Given the description of an element on the screen output the (x, y) to click on. 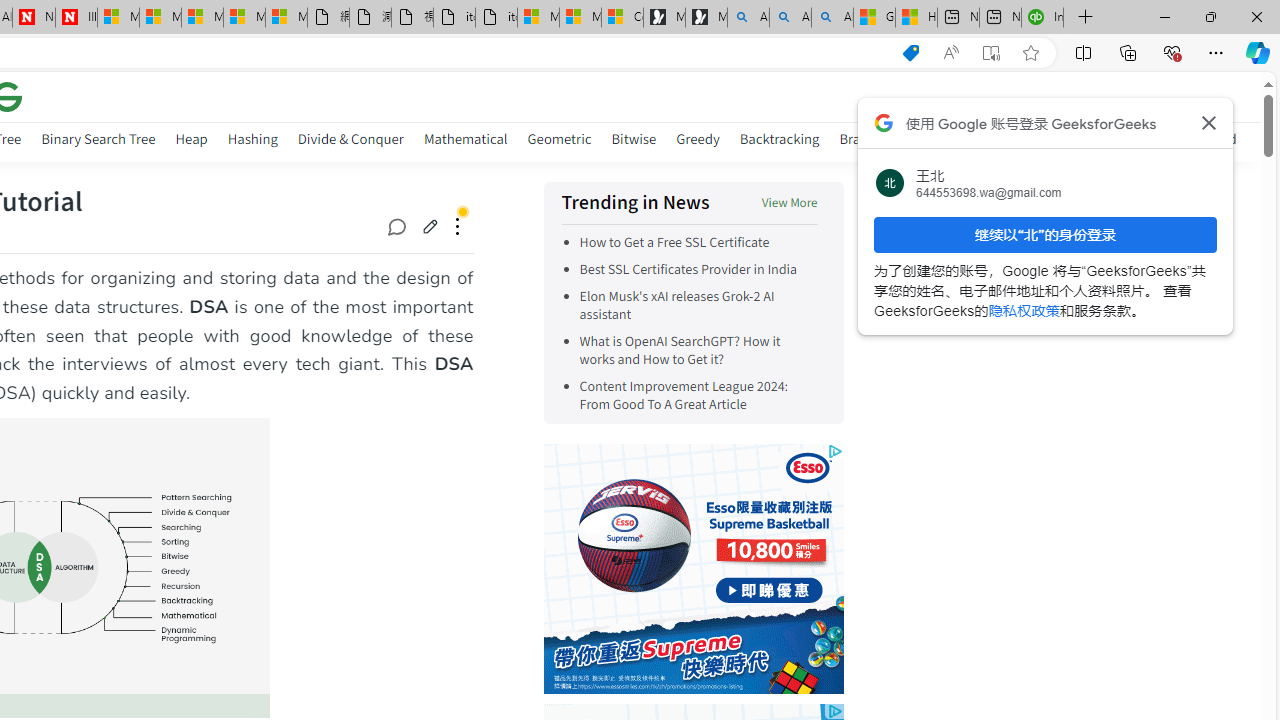
Geometric (559, 142)
Mathematical (465, 138)
Elon Musk's xAI releases Grok-2 AI assistant (676, 305)
Greedy (697, 142)
Bitwise (633, 142)
Illness news & latest pictures from Newsweek.com (76, 17)
View More (789, 203)
How to Use a TV as a Computer Monitor (916, 17)
Matrix (991, 138)
Best SSL Certificates Provider in India (687, 269)
Newsweek - News, Analysis, Politics, Business, Technology (33, 17)
Alabama high school quarterback dies - Search (748, 17)
